Given the description of an element on the screen output the (x, y) to click on. 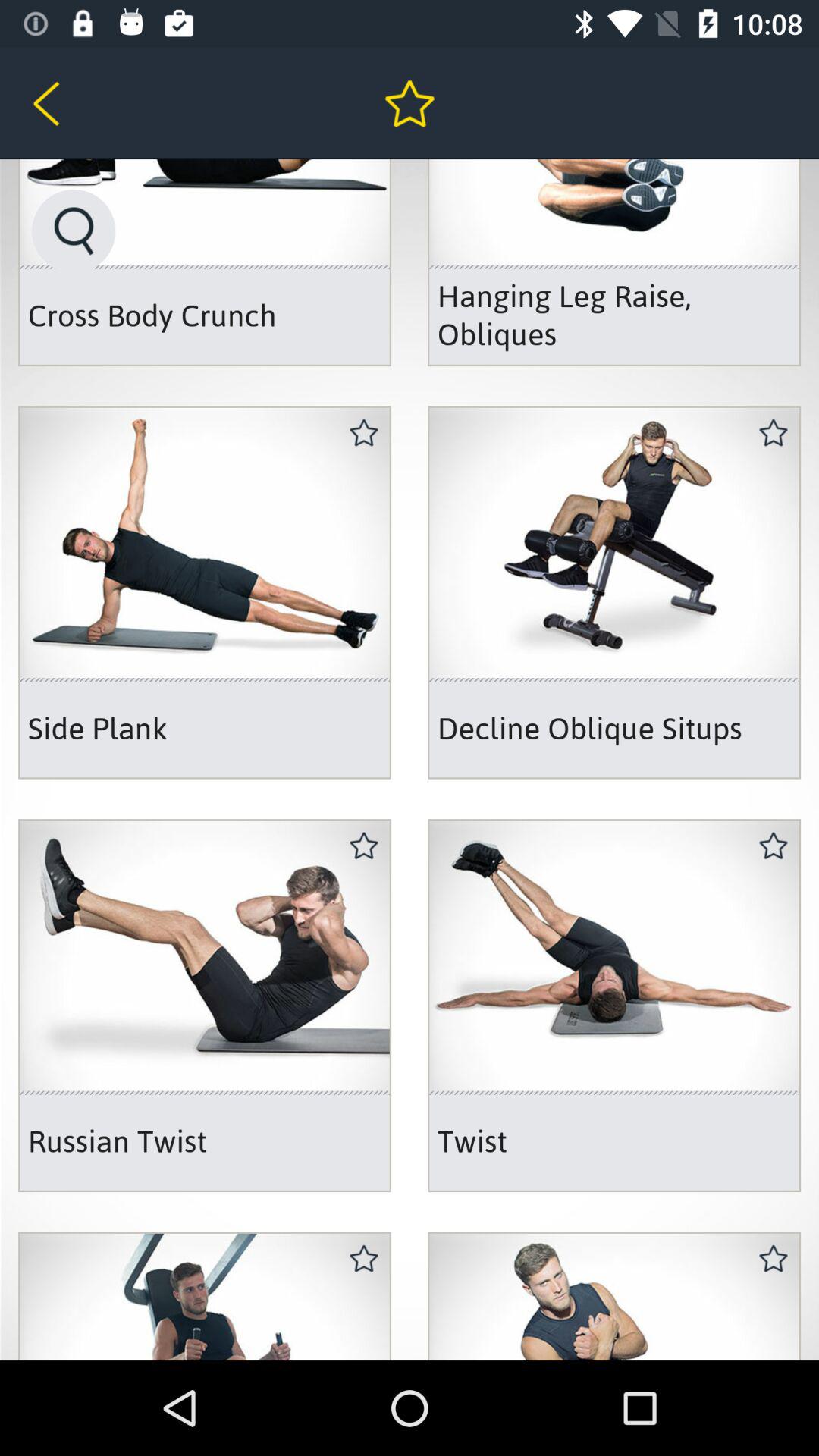
select the first star icon on the top right side of the web page (773, 432)
click the second star icon from the bottom right side of the web page (773, 846)
click on the symbol above search symbol on the top left corner of the page (71, 103)
click on the right second image (204, 592)
click on the image russian twist (204, 1006)
